Given the description of an element on the screen output the (x, y) to click on. 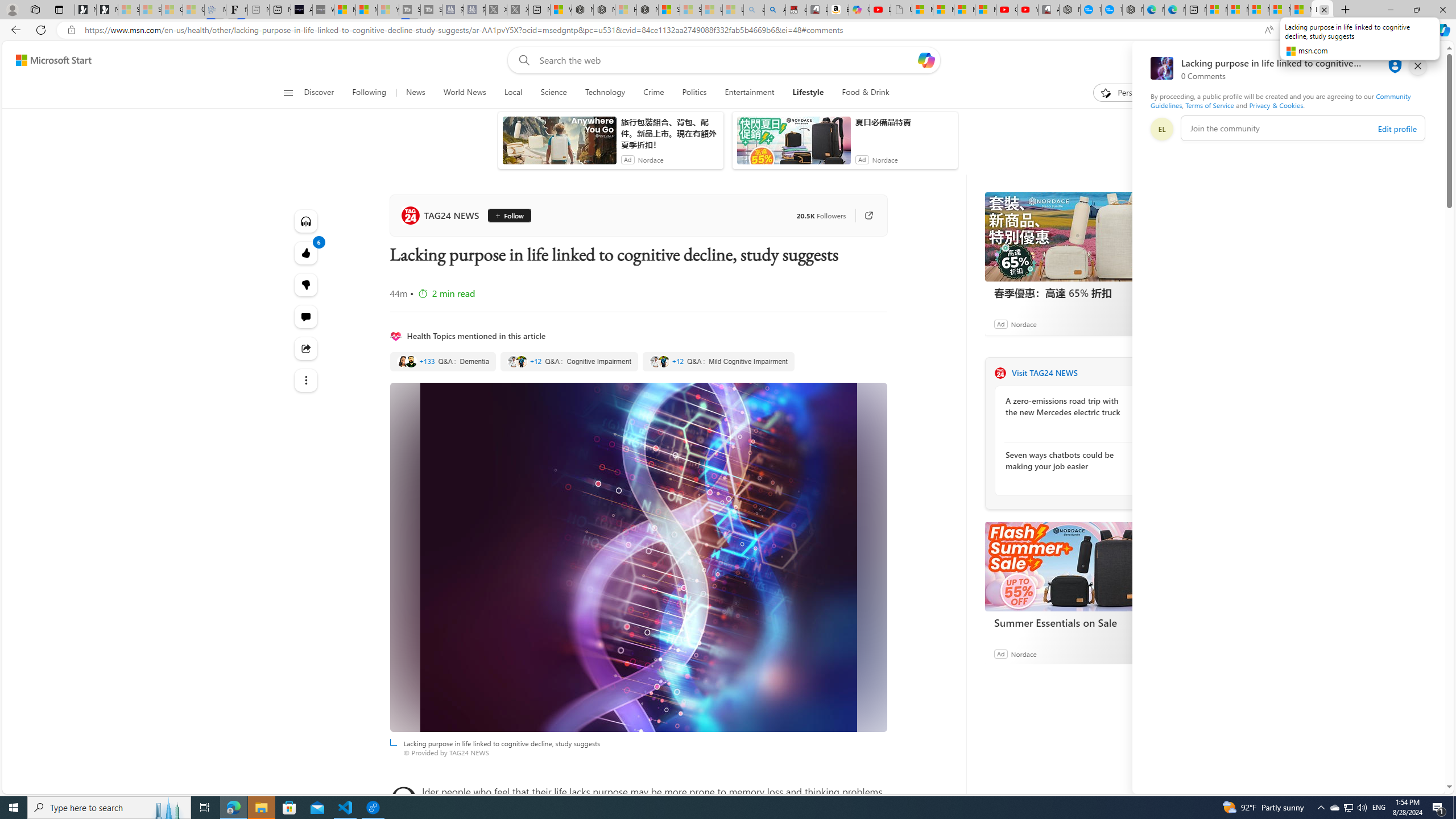
Terms of Service (1209, 104)
Class: quote-thumbnail (662, 361)
Listen to this article (305, 221)
Enter your search term (726, 59)
Share this story (305, 348)
TAG24 NEWS (441, 215)
Entertainment (749, 92)
